Given the description of an element on the screen output the (x, y) to click on. 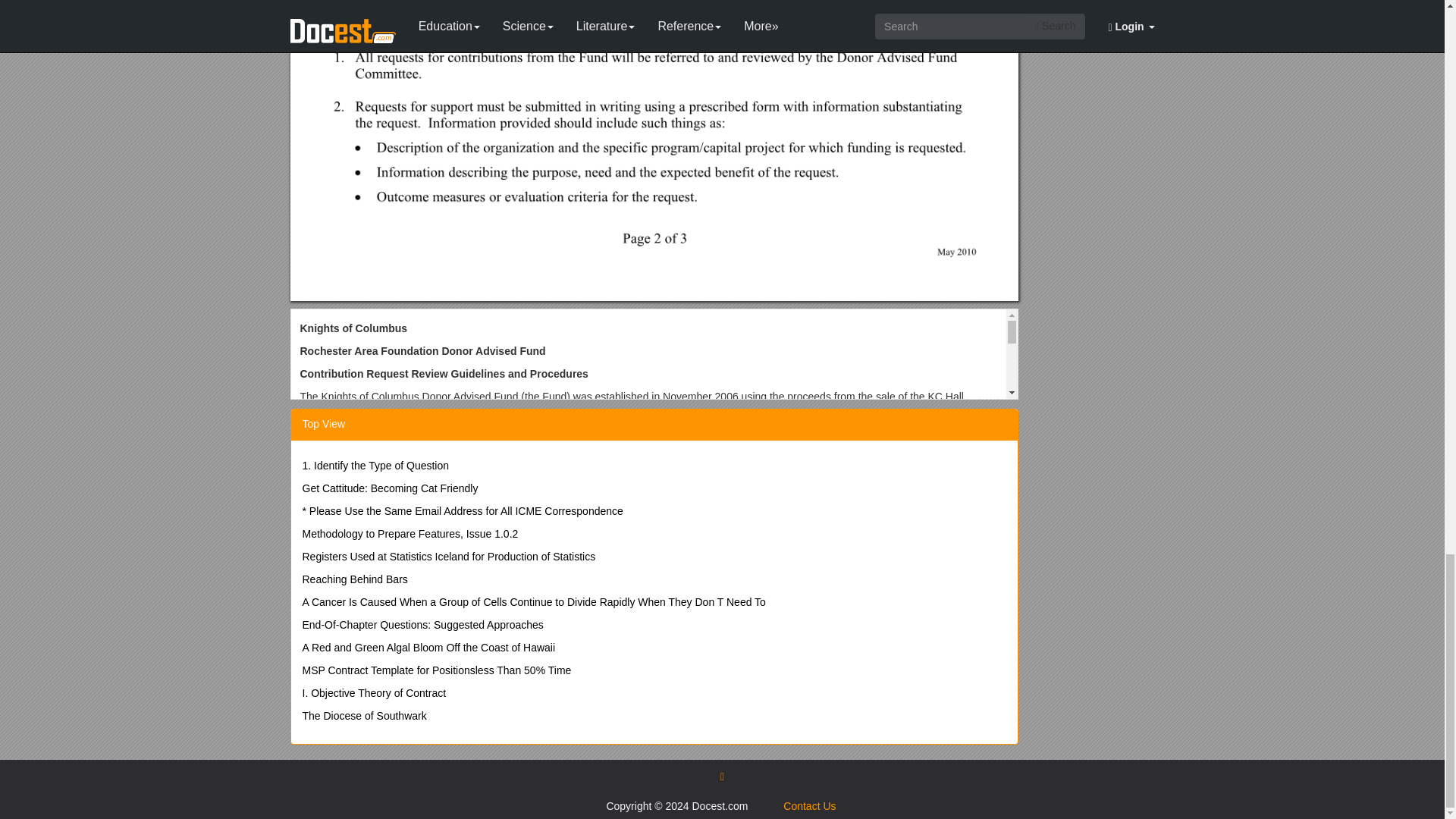
TO TOP (721, 775)
